Given the description of an element on the screen output the (x, y) to click on. 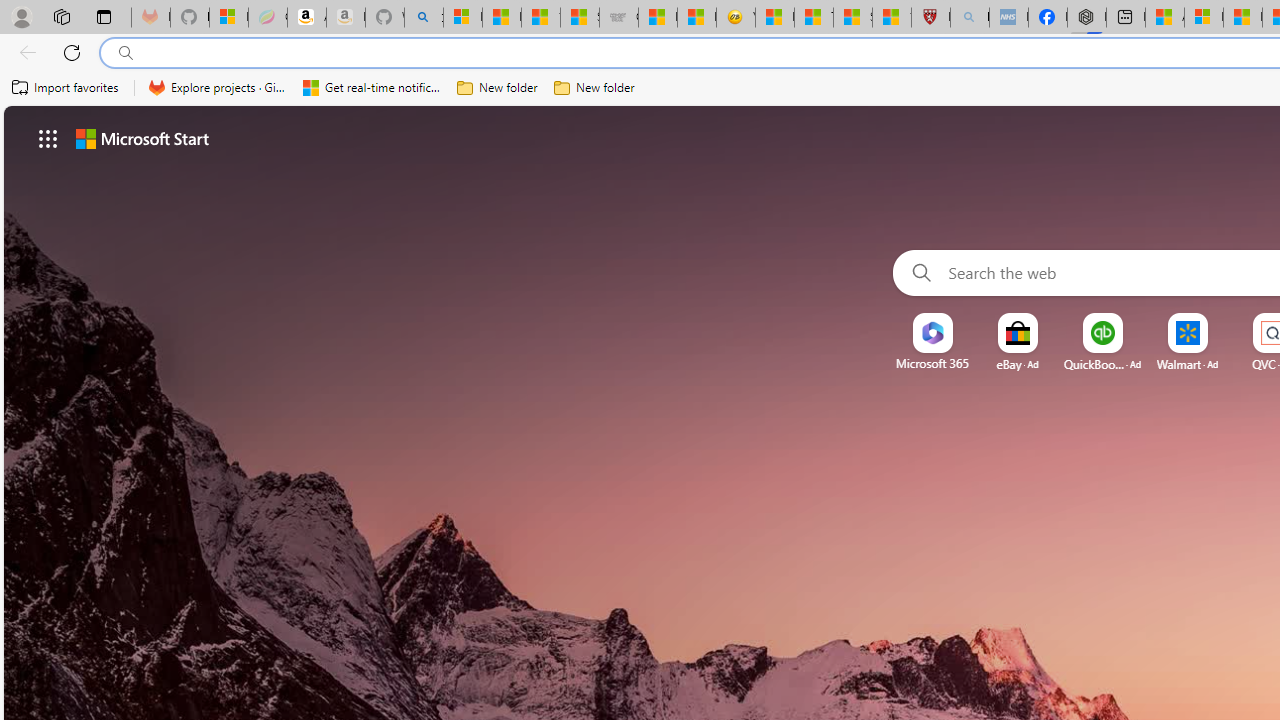
12 Popular Science Lies that Must be Corrected (892, 17)
Nordace - Nordace Siena Is Not An Ordinary Backpack (1086, 17)
To get missing image descriptions, open the context menu. (932, 333)
Search icon (125, 53)
Microsoft start (142, 138)
App launcher (47, 138)
Import favorites (65, 88)
